Given the description of an element on the screen output the (x, y) to click on. 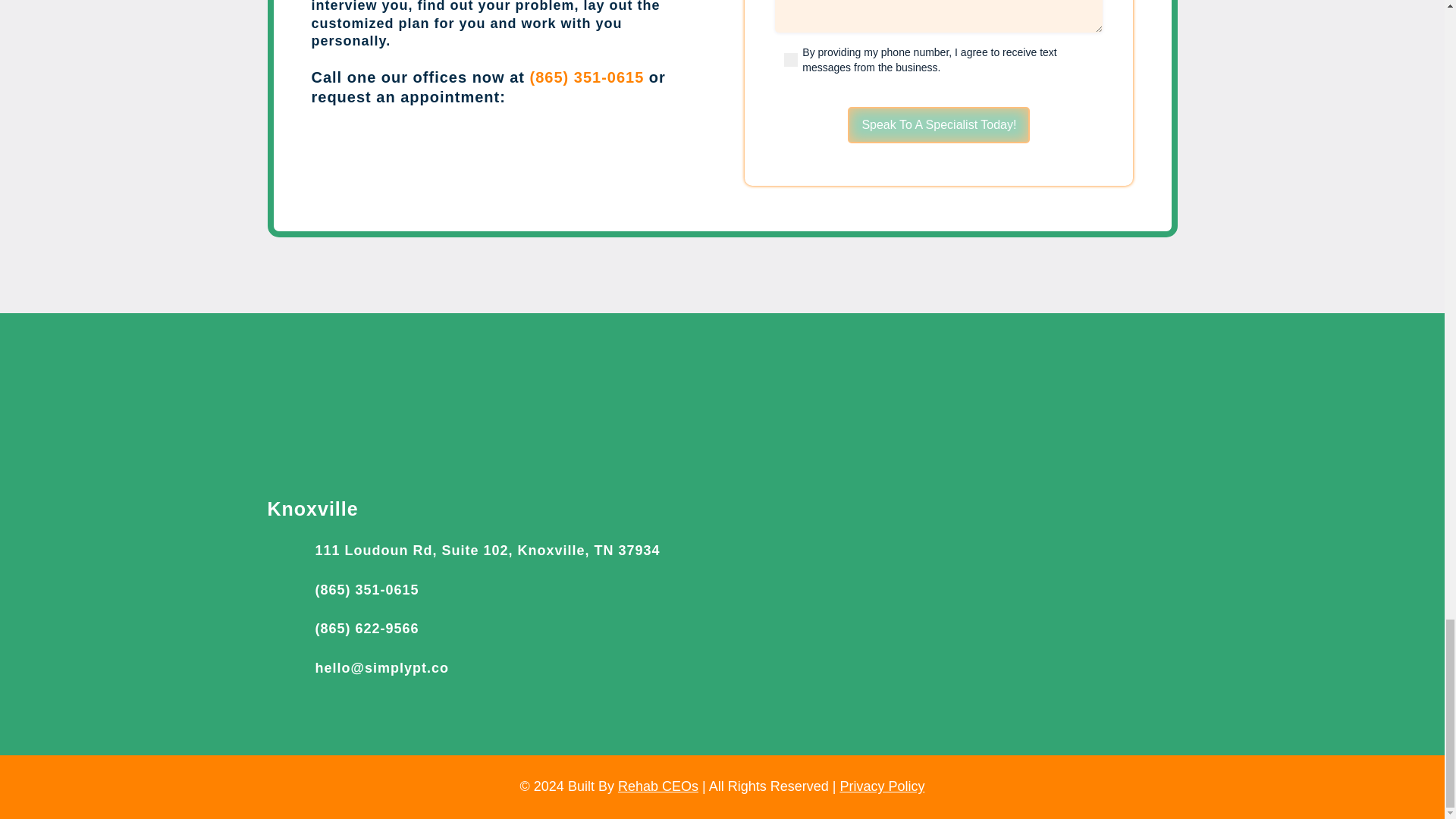
request-arrow (633, 156)
Speak To A Specialist Today! (938, 124)
image2 (722, 383)
